Given the description of an element on the screen output the (x, y) to click on. 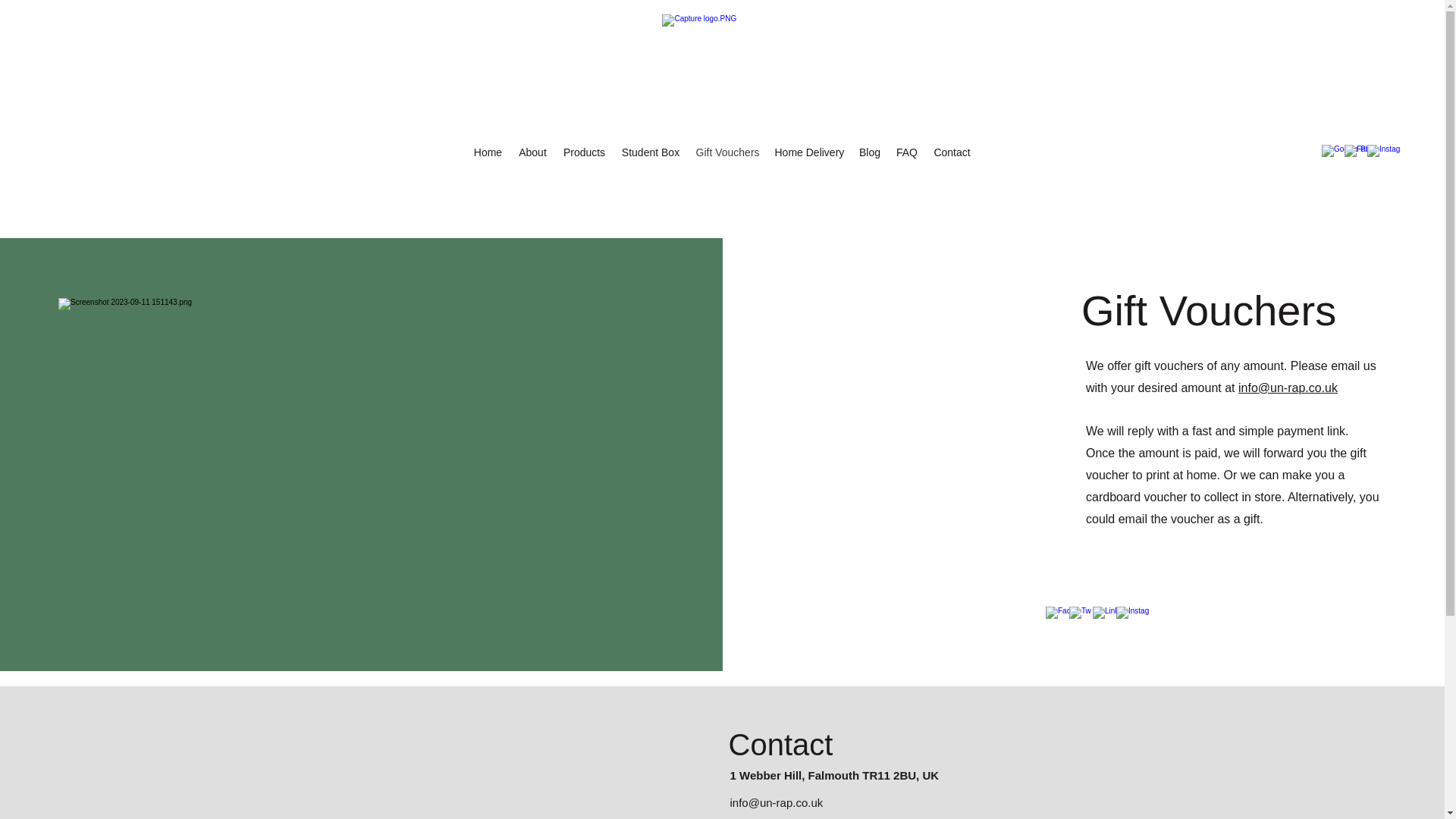
About (531, 151)
Home Delivery (809, 151)
FAQ (907, 151)
Home (487, 151)
Gift Vouchers (727, 151)
Contact (951, 151)
Products (583, 151)
Student Box (649, 151)
Blog (869, 151)
